Given the description of an element on the screen output the (x, y) to click on. 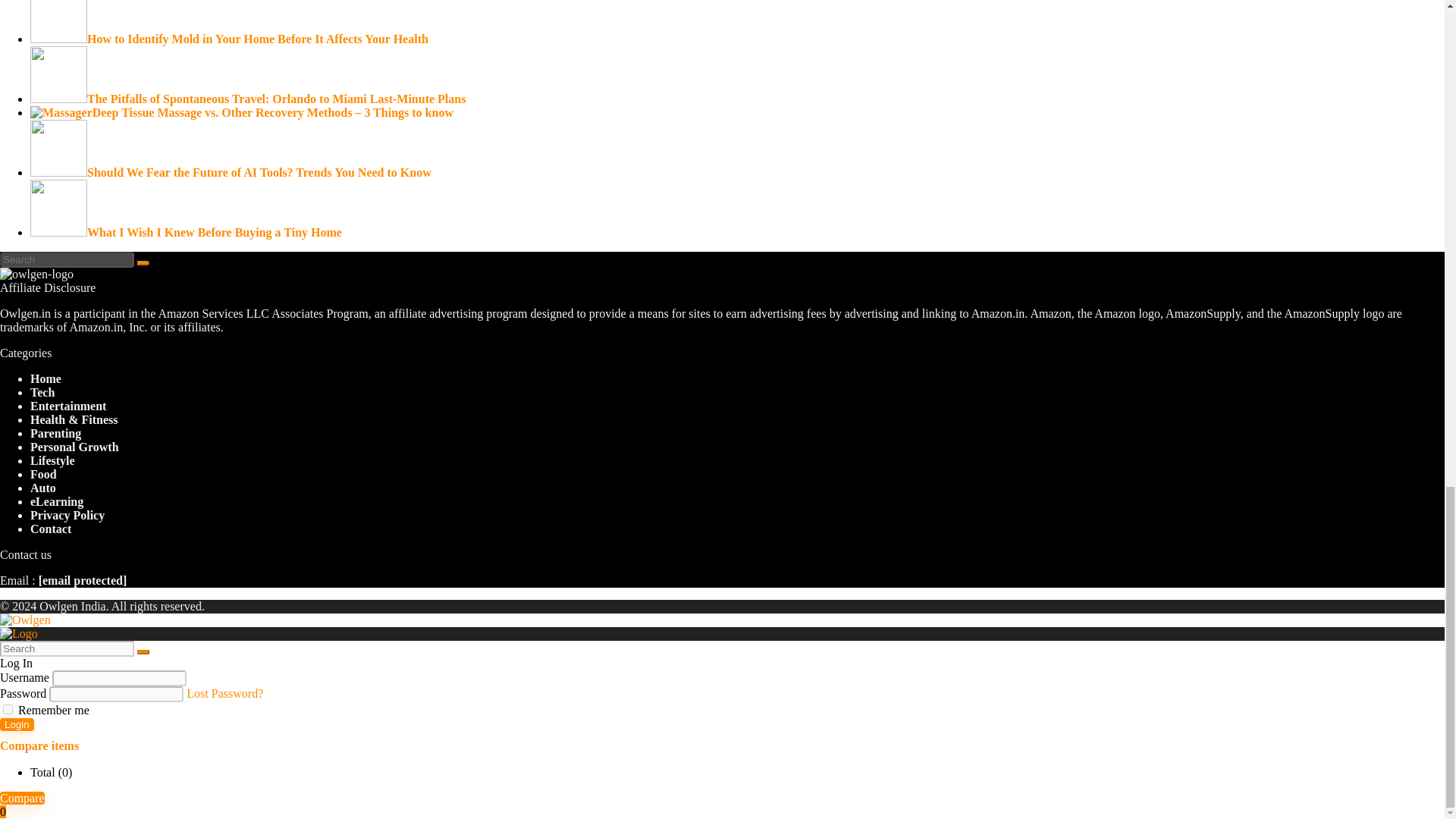
forever (7, 709)
What I Wish I Knew Before Buying a Tiny Home (186, 232)
